Given the description of an element on the screen output the (x, y) to click on. 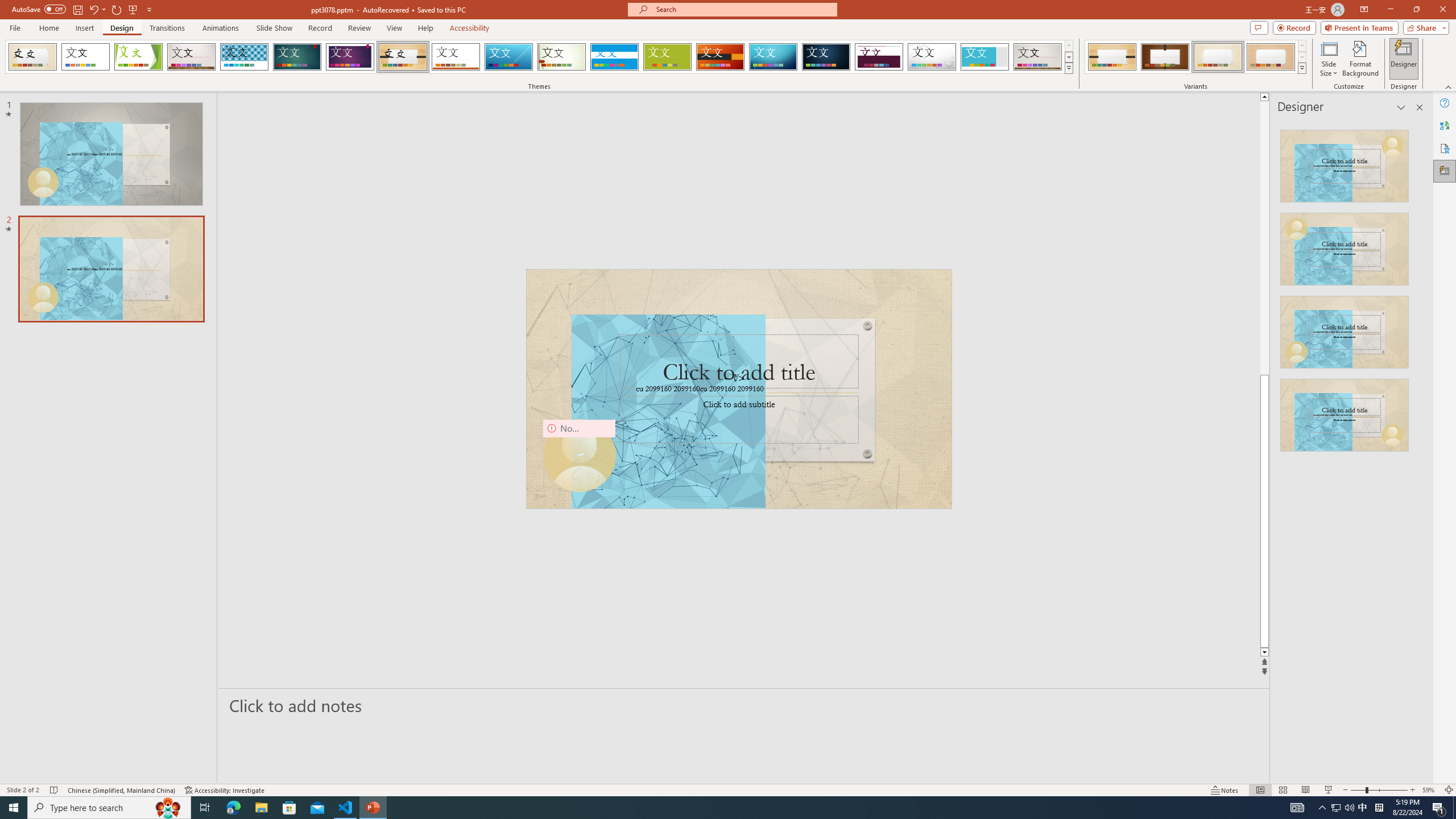
Basis (667, 56)
TextBox 7 (734, 378)
Organic Variant 4 (1270, 56)
